Given the description of an element on the screen output the (x, y) to click on. 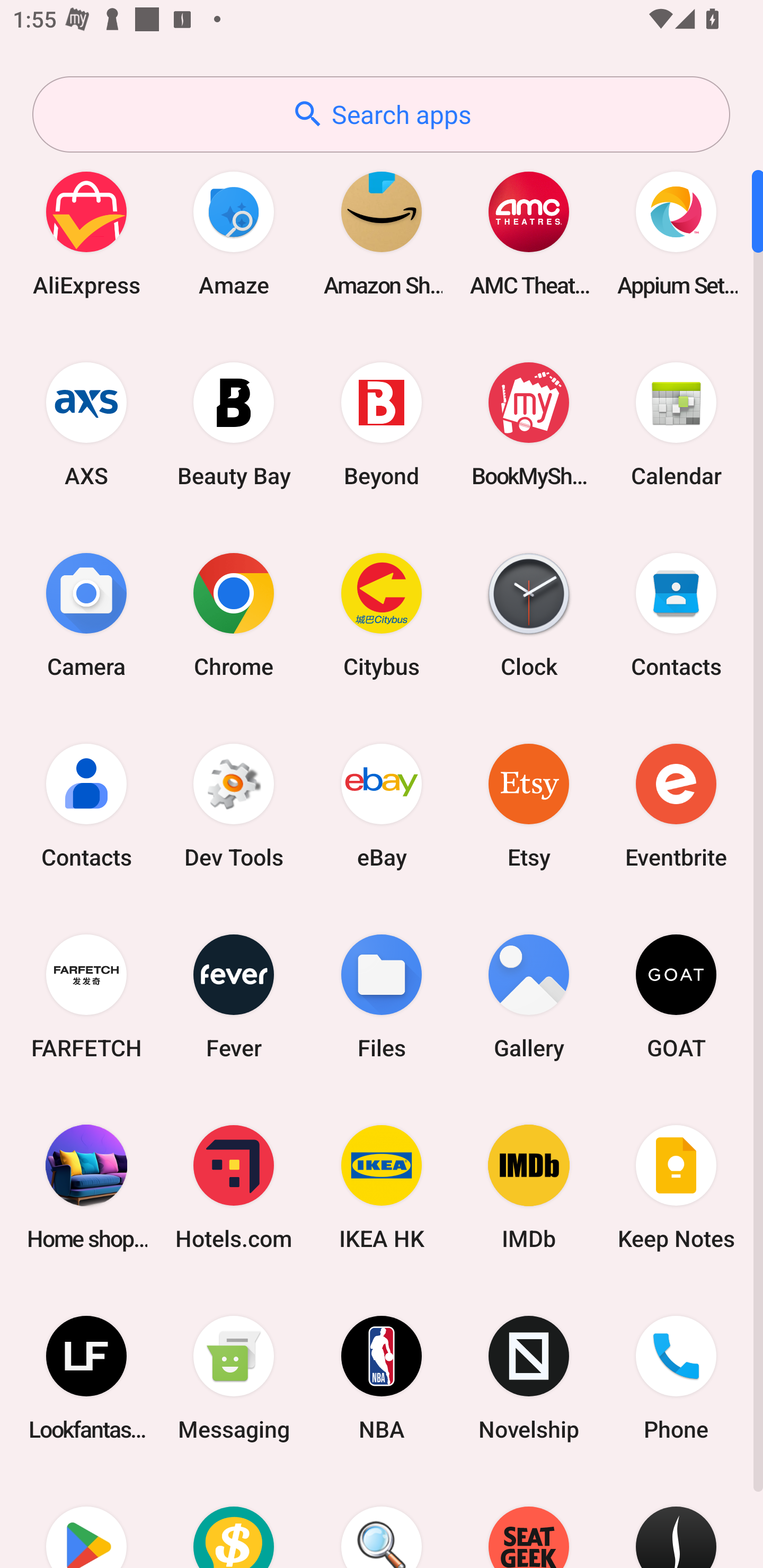
  Search apps (381, 114)
AliExpress (86, 233)
Amaze (233, 233)
Amazon Shopping (381, 233)
AMC Theatres (528, 233)
Appium Settings (676, 233)
AXS (86, 424)
Beauty Bay (233, 424)
Beyond (381, 424)
BookMyShow (528, 424)
Calendar (676, 424)
Camera (86, 614)
Chrome (233, 614)
Citybus (381, 614)
Clock (528, 614)
Contacts (676, 614)
Contacts (86, 805)
Dev Tools (233, 805)
eBay (381, 805)
Etsy (528, 805)
Eventbrite (676, 805)
FARFETCH (86, 996)
Fever (233, 996)
Files (381, 996)
Gallery (528, 996)
GOAT (676, 996)
Home shopping (86, 1186)
Hotels.com (233, 1186)
IKEA HK (381, 1186)
IMDb (528, 1186)
Keep Notes (676, 1186)
Lookfantastic (86, 1377)
Messaging (233, 1377)
NBA (381, 1377)
Novelship (528, 1377)
Phone (676, 1377)
